Given the description of an element on the screen output the (x, y) to click on. 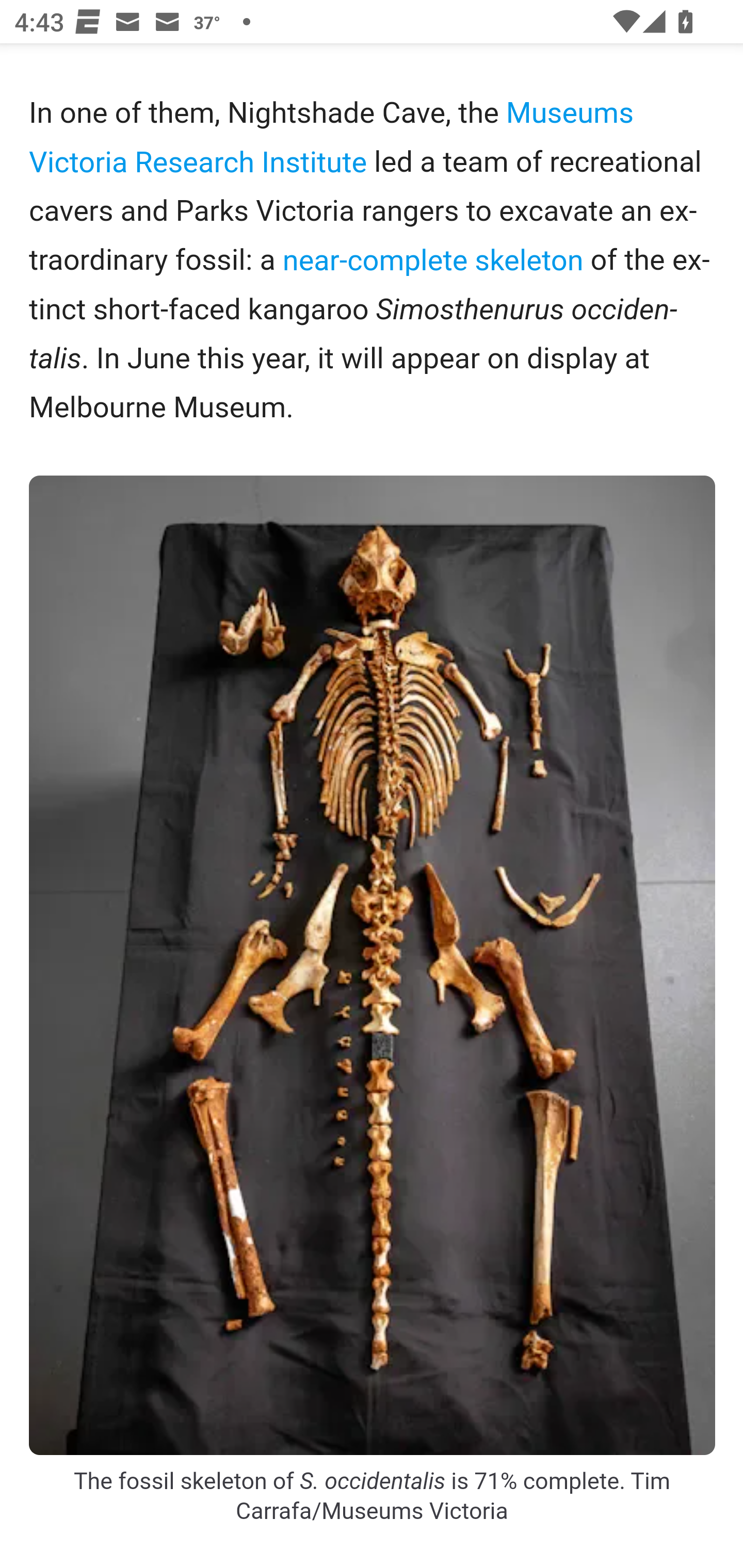
Museums Victoria Research Institute (332, 137)
near-complete skeleton (433, 259)
